Given the description of an element on the screen output the (x, y) to click on. 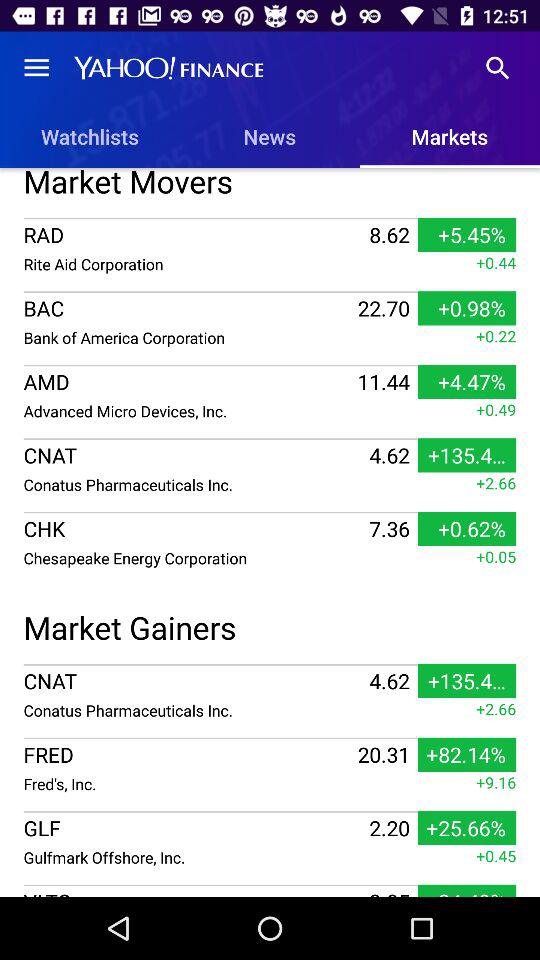
scroll to glf icon (193, 828)
